Given the description of an element on the screen output the (x, y) to click on. 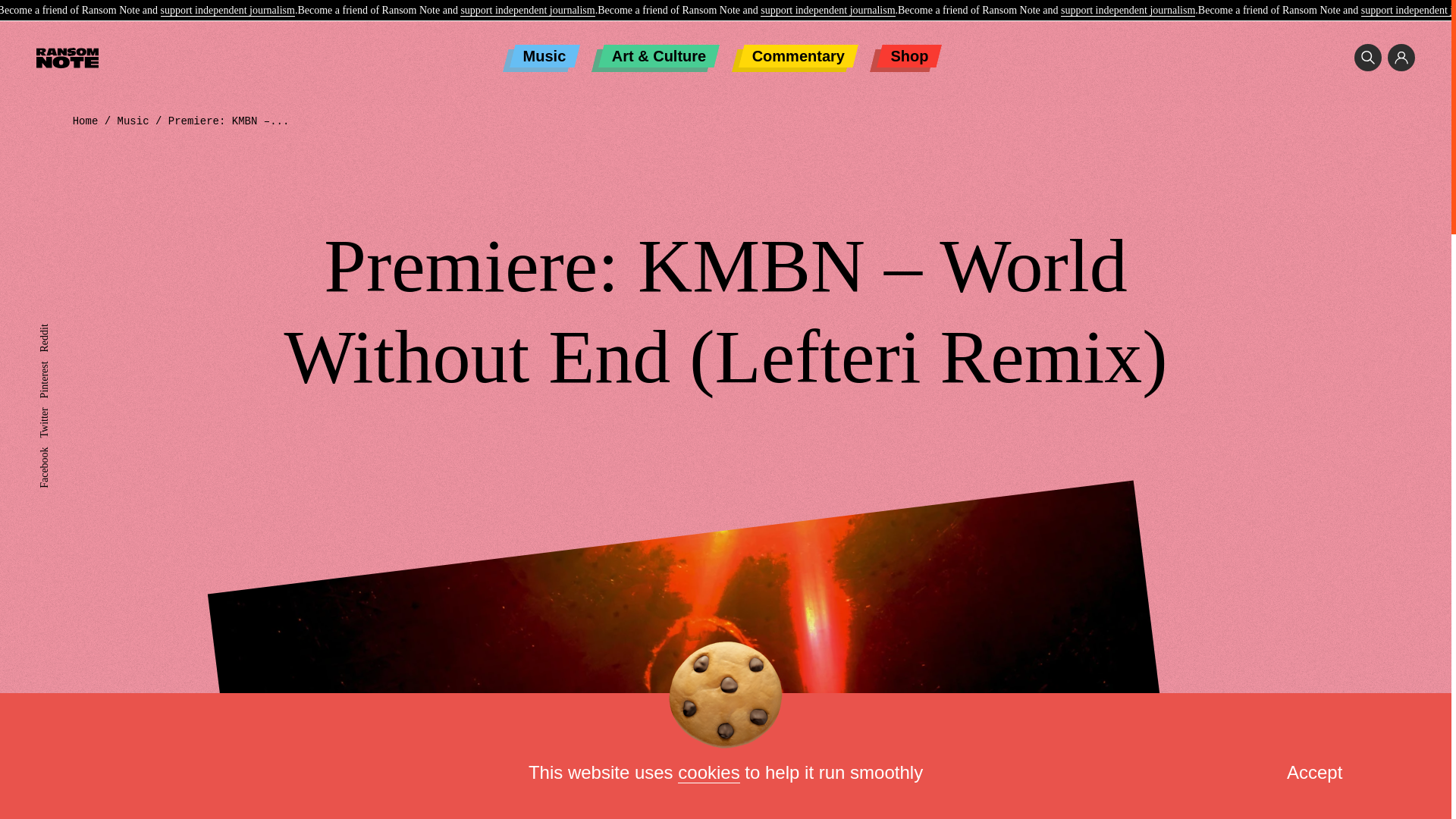
Shop (909, 56)
Music (544, 56)
Pinterest (57, 367)
Home (85, 121)
support independent journalism (827, 10)
support independent journalism (1128, 10)
Twitter (53, 413)
Music (133, 121)
support independent journalism (227, 10)
Commentary (798, 56)
Facebook (59, 452)
support independent journalism (527, 10)
Reddit (52, 329)
